Given the description of an element on the screen output the (x, y) to click on. 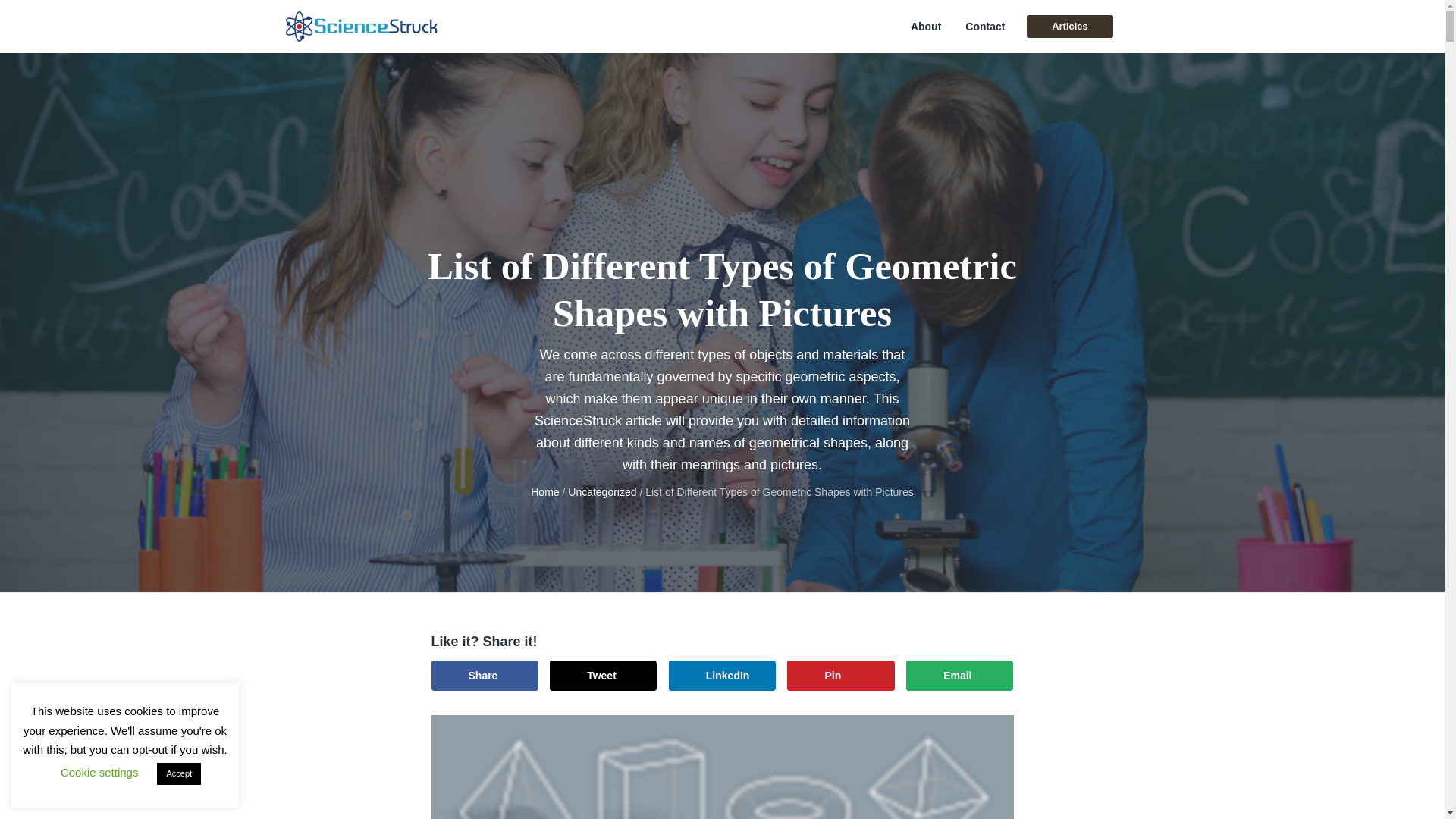
Save to Pinterest (840, 675)
Home (545, 491)
LinkedIn (722, 675)
Send over email (959, 675)
Pin (840, 675)
Share on X (603, 675)
Articles (1068, 25)
Uncategorized (601, 491)
Share on Facebook (483, 675)
Share on LinkedIn (722, 675)
